Given the description of an element on the screen output the (x, y) to click on. 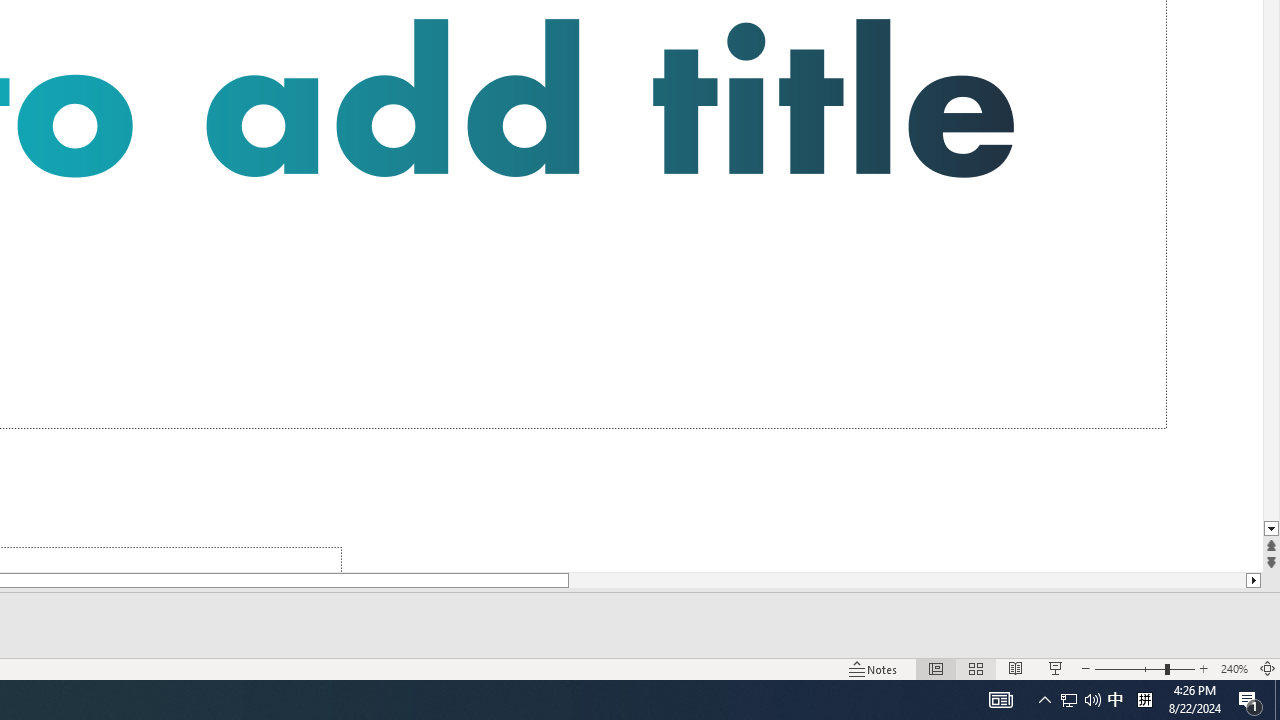
Slide Sorter (975, 668)
Reading View (1015, 668)
Notes  (874, 668)
Zoom to Fit  (1267, 668)
Normal (936, 668)
Zoom In (1204, 668)
Slide Show (1055, 668)
Zoom 240% (1234, 668)
Zoom (1144, 668)
Zoom Out (1129, 668)
